Given the description of an element on the screen output the (x, y) to click on. 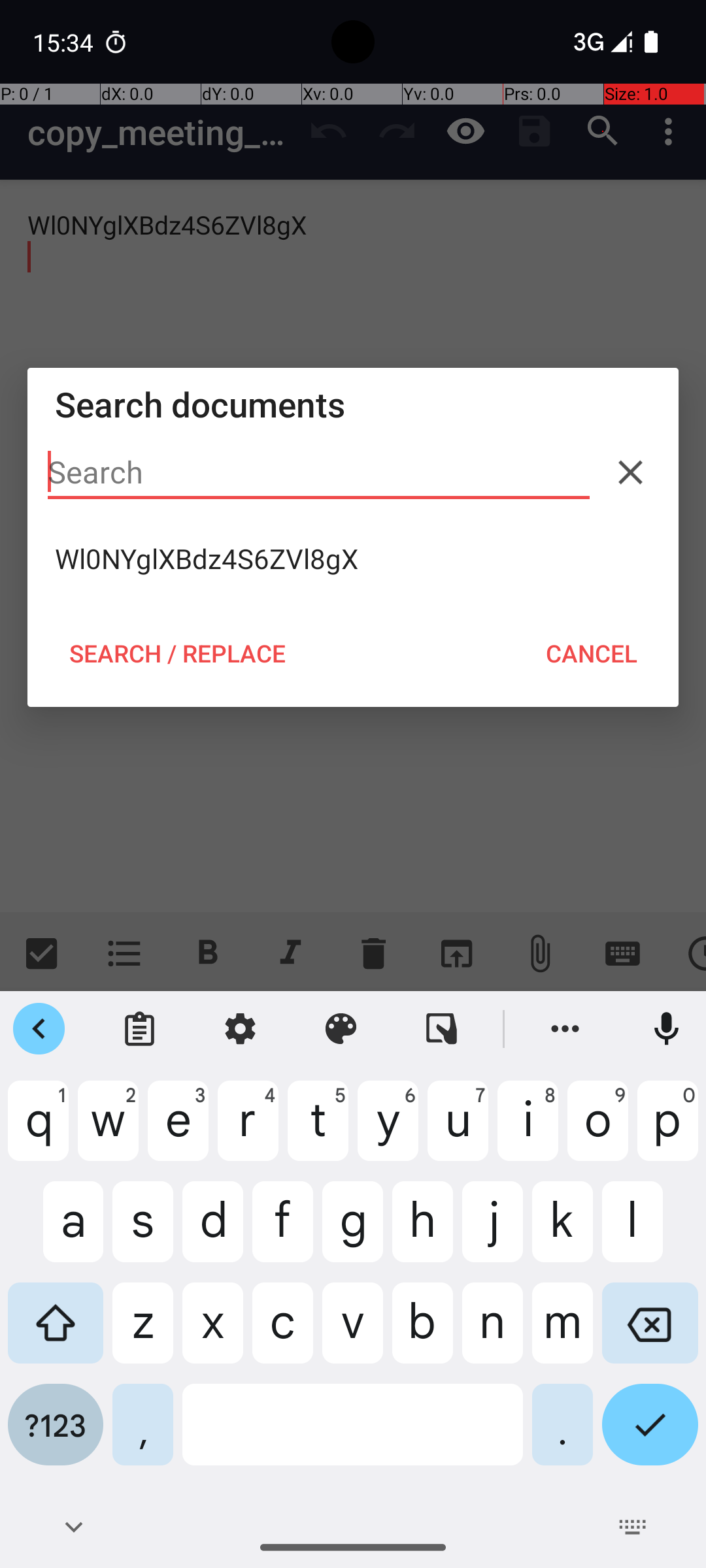
Wl0NYglXBdz4S6ZVl8gX Element type: android.widget.TextView (352, 558)
